Given the description of an element on the screen output the (x, y) to click on. 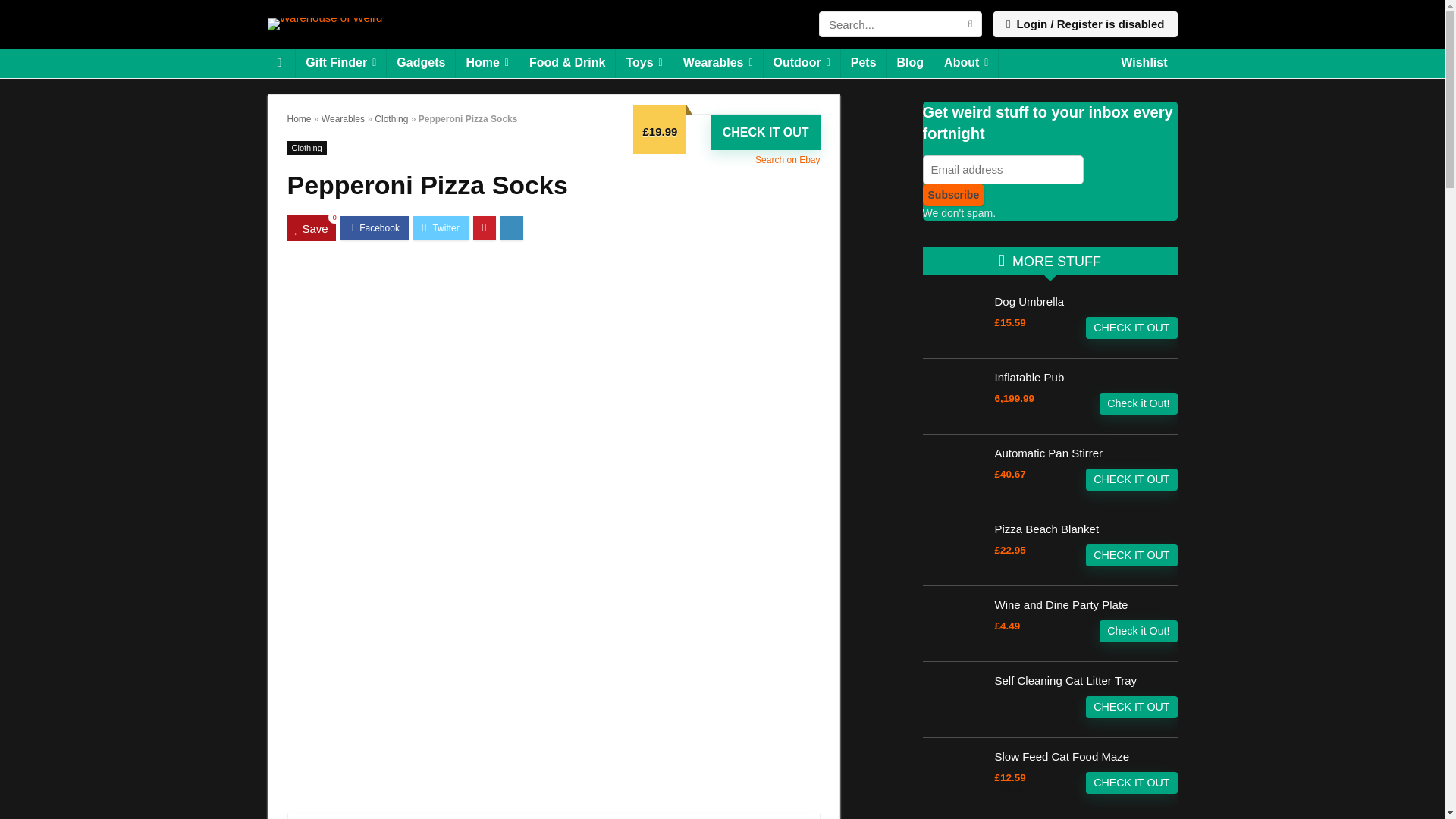
Toys (643, 63)
Home (486, 63)
Gadgets (420, 63)
Gift Finder (340, 63)
View all posts in Clothing (306, 147)
Wearables (717, 63)
Subscribe (952, 194)
Blog (910, 63)
Pets (863, 63)
Outdoor (801, 63)
